Given the description of an element on the screen output the (x, y) to click on. 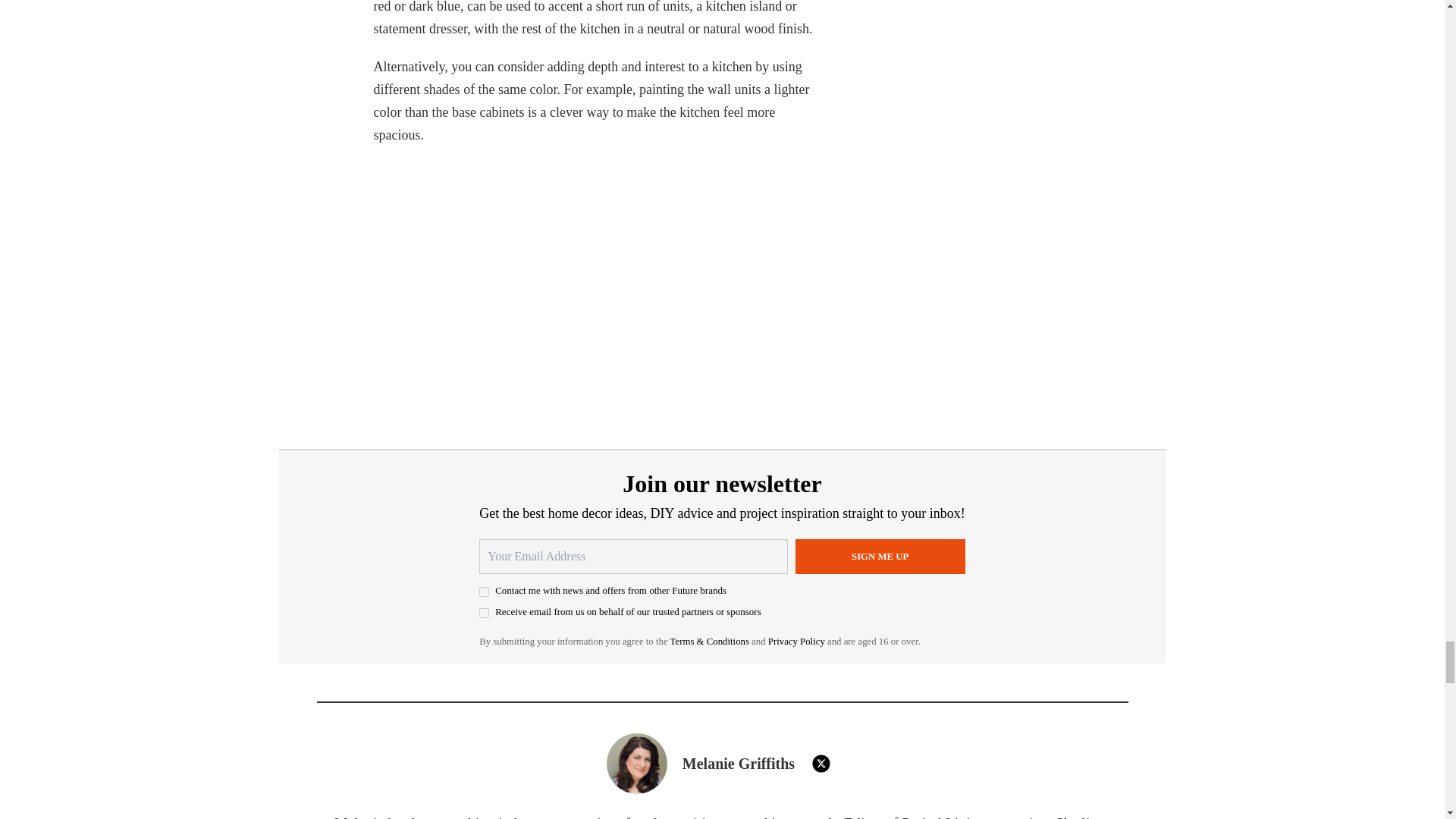
Sign me up (879, 556)
on (484, 592)
on (484, 613)
